Given the description of an element on the screen output the (x, y) to click on. 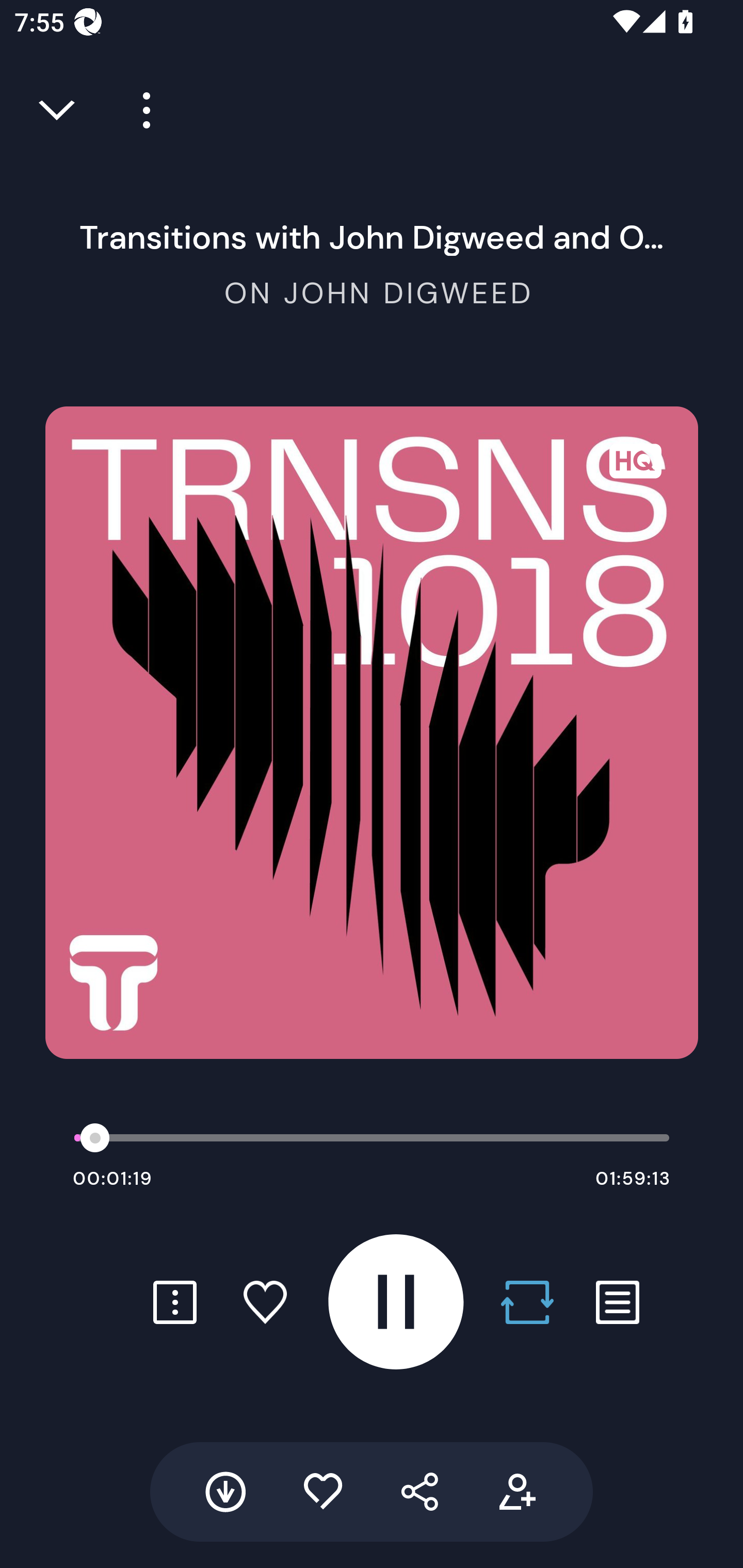
Close full player (58, 110)
Player more options button (139, 110)
Repost button (527, 1301)
